Given the description of an element on the screen output the (x, y) to click on. 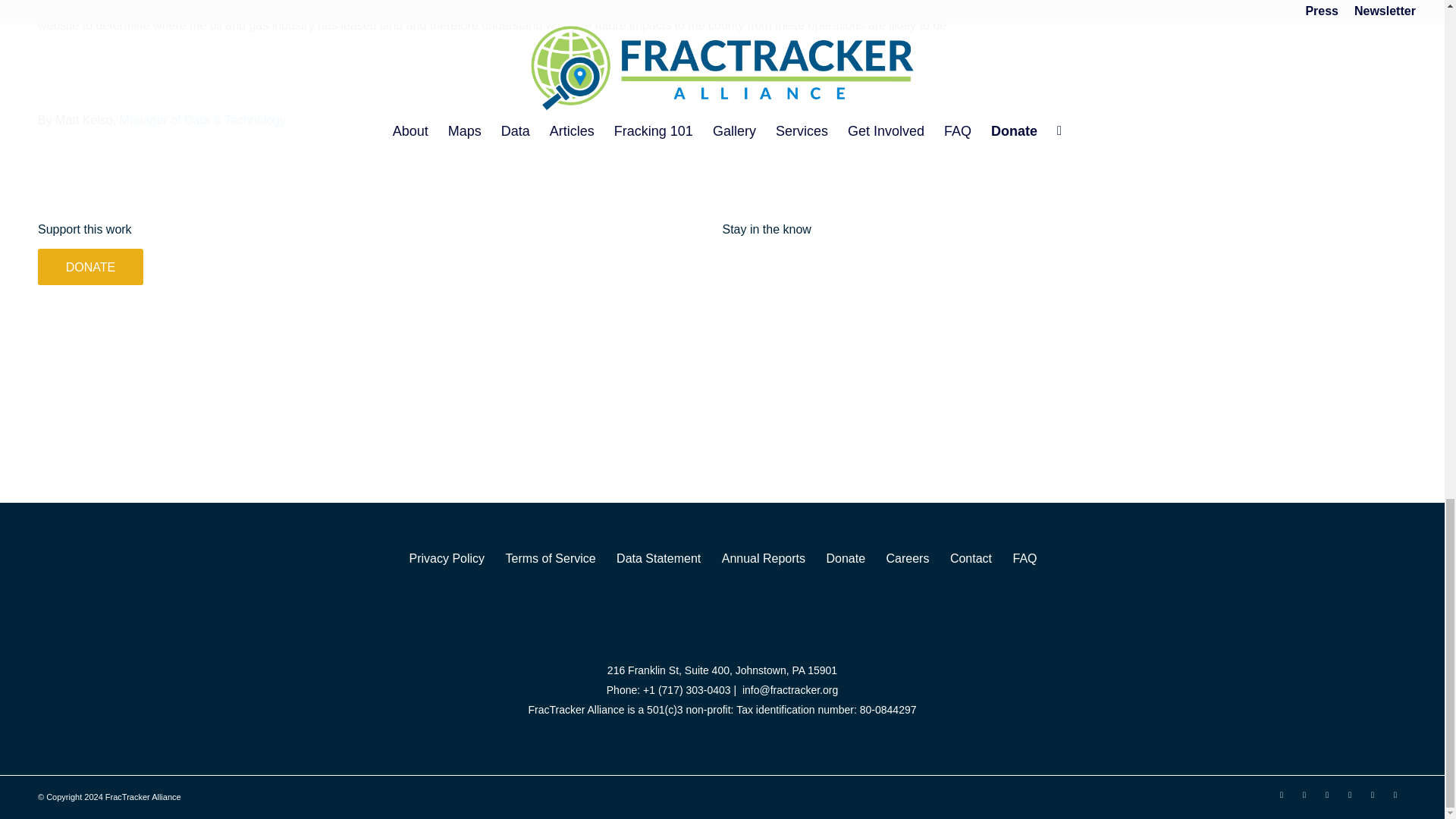
Twitter (1280, 793)
Facebook (1304, 793)
Youtube (1349, 793)
Mail (1395, 793)
LinkedIn (1327, 793)
Instagram (1372, 793)
